Given the description of an element on the screen output the (x, y) to click on. 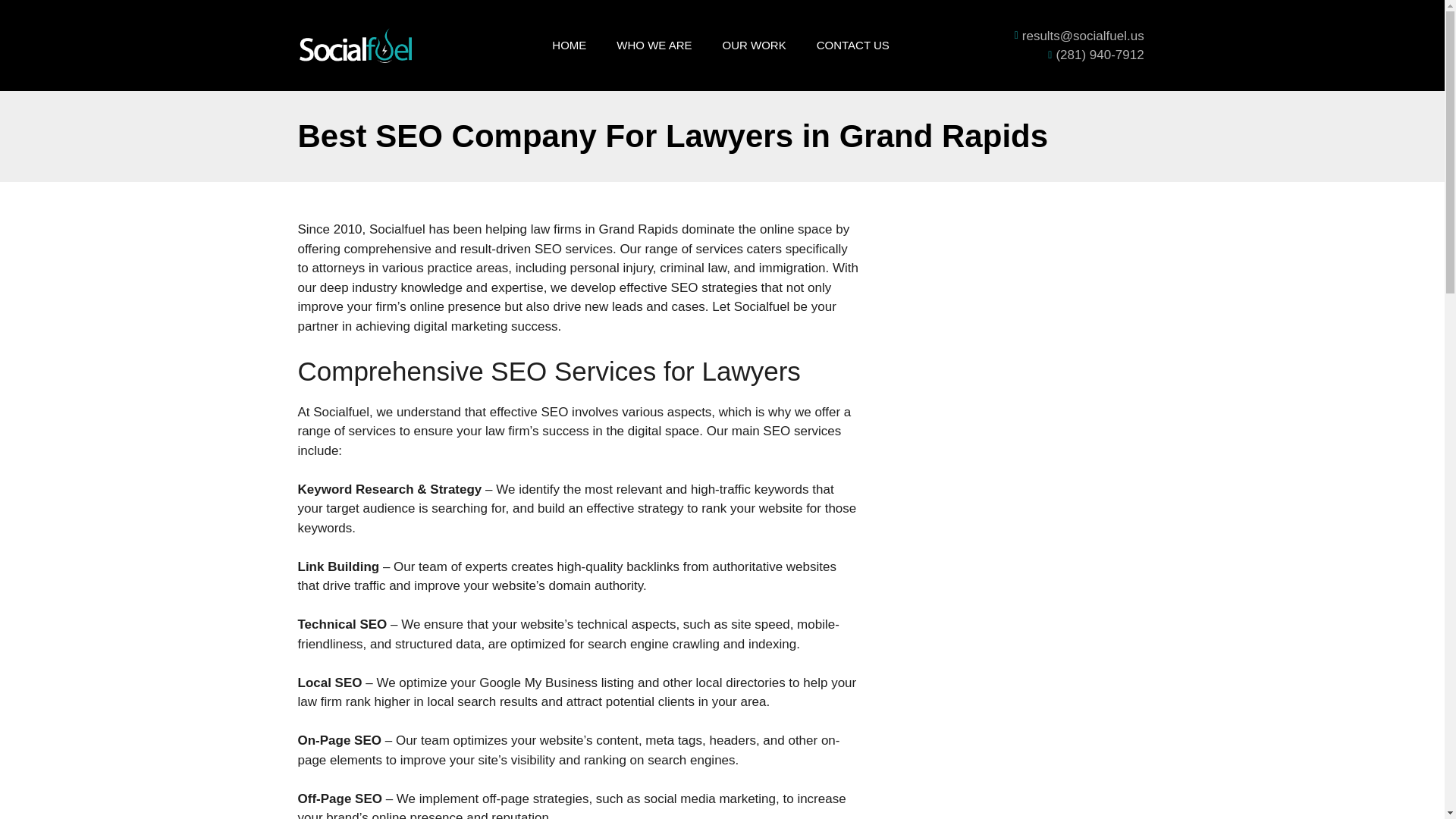
CONTACT US (853, 45)
WHO WE ARE (653, 45)
OUR WORK (754, 45)
